Given the description of an element on the screen output the (x, y) to click on. 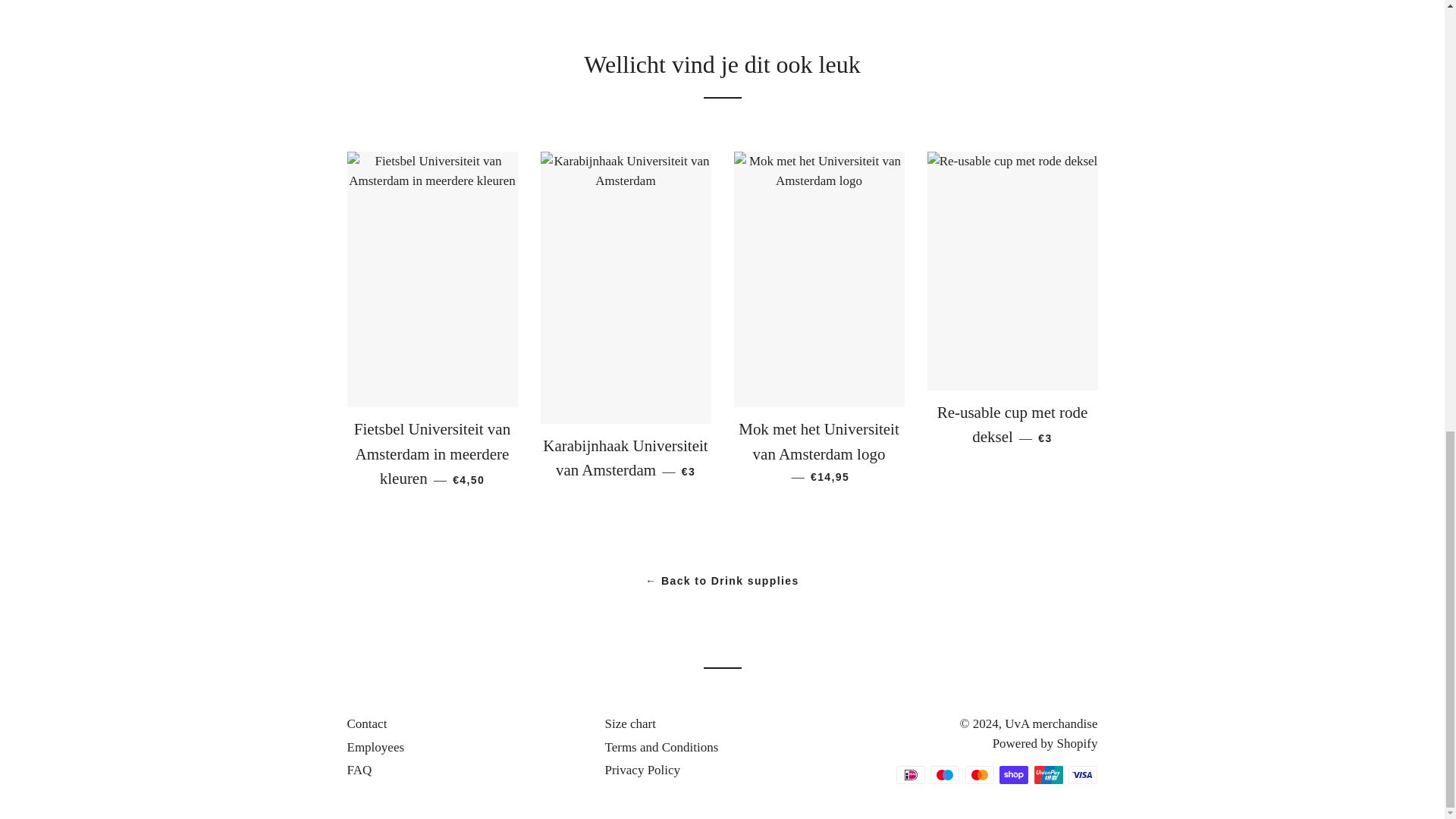
Shop Pay (1012, 774)
Mastercard (979, 774)
Maestro (944, 774)
Union Pay (1047, 774)
Visa (1082, 774)
iDEAL (910, 774)
